Given the description of an element on the screen output the (x, y) to click on. 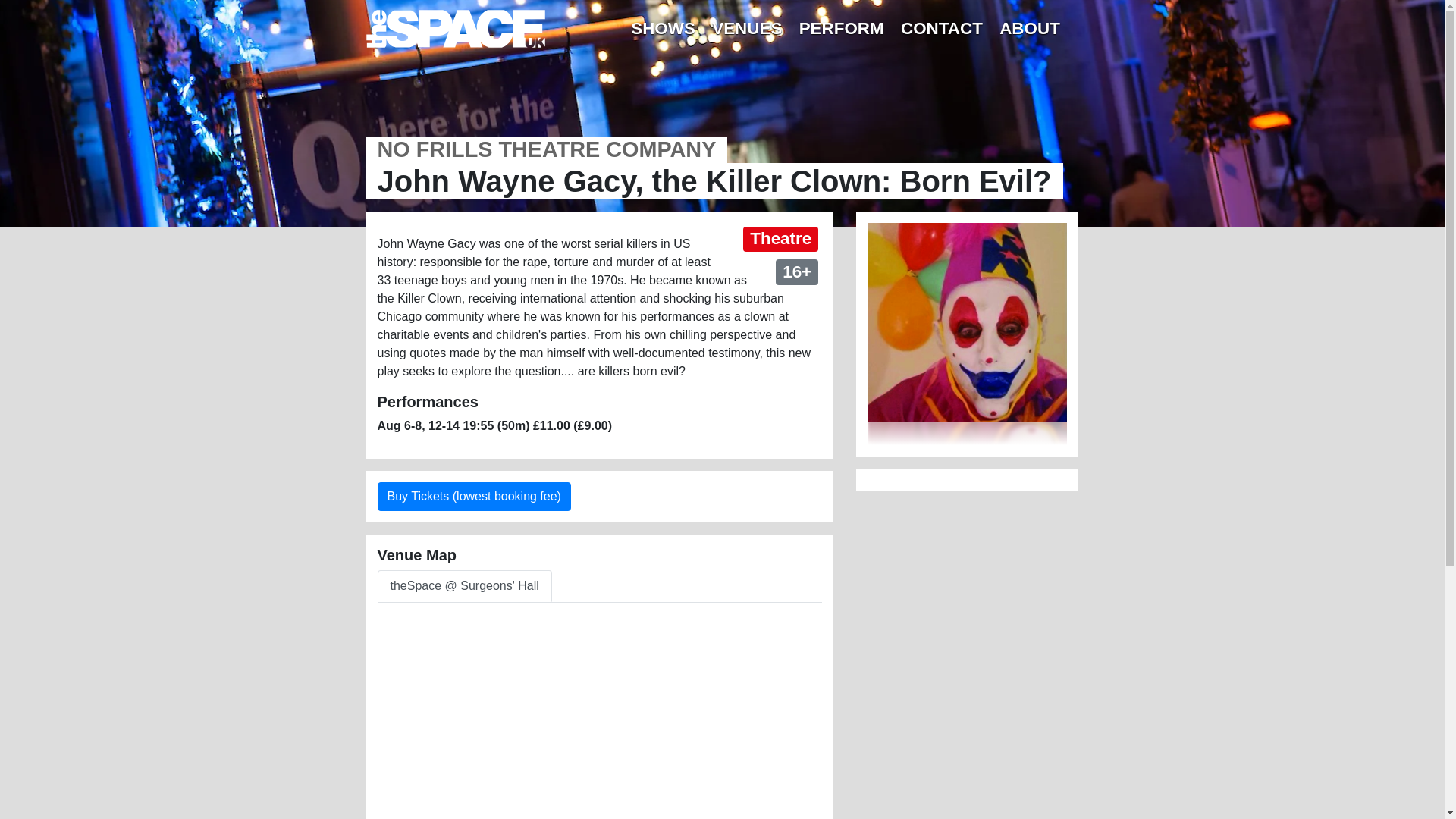
ABOUT (1029, 28)
CONTACT (941, 28)
SHOWS (663, 28)
VENUES (746, 28)
PERFORM (840, 28)
